Given the description of an element on the screen output the (x, y) to click on. 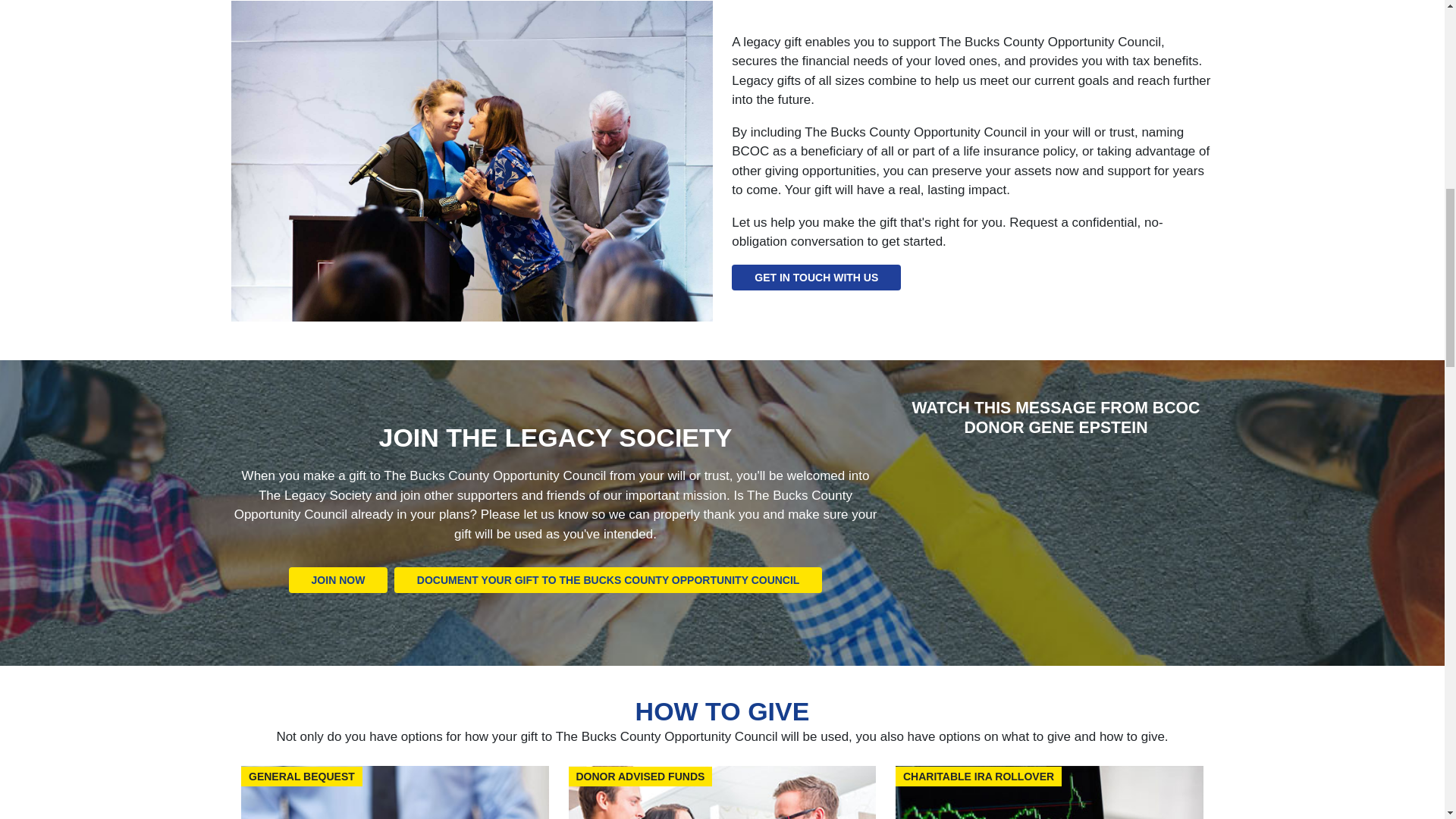
message from BCOC donor Gene Epstein (1055, 538)
JOIN NOW (338, 579)
JOIN NOW (338, 579)
DOCUMENT YOUR GIFT TO THE BUCKS COUNTY OPPORTUNITY COUNCIL (608, 579)
GET IN TOUCH WITH US (816, 277)
